Given the description of an element on the screen output the (x, y) to click on. 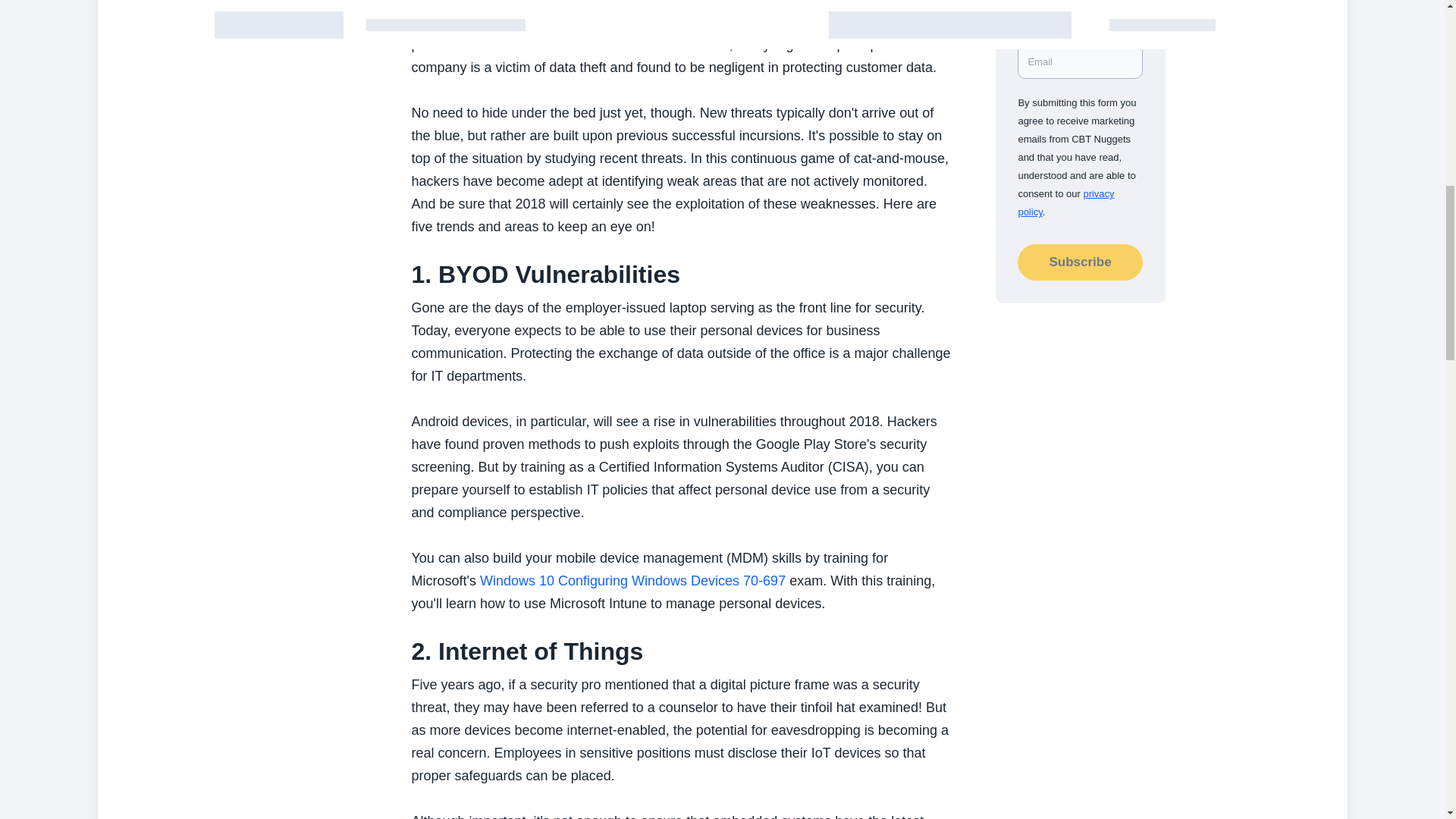
privacy policy (1065, 202)
Subscribe (1079, 262)
Windows 10 Configuring Windows Devices 70-697 (633, 580)
